Given the description of an element on the screen output the (x, y) to click on. 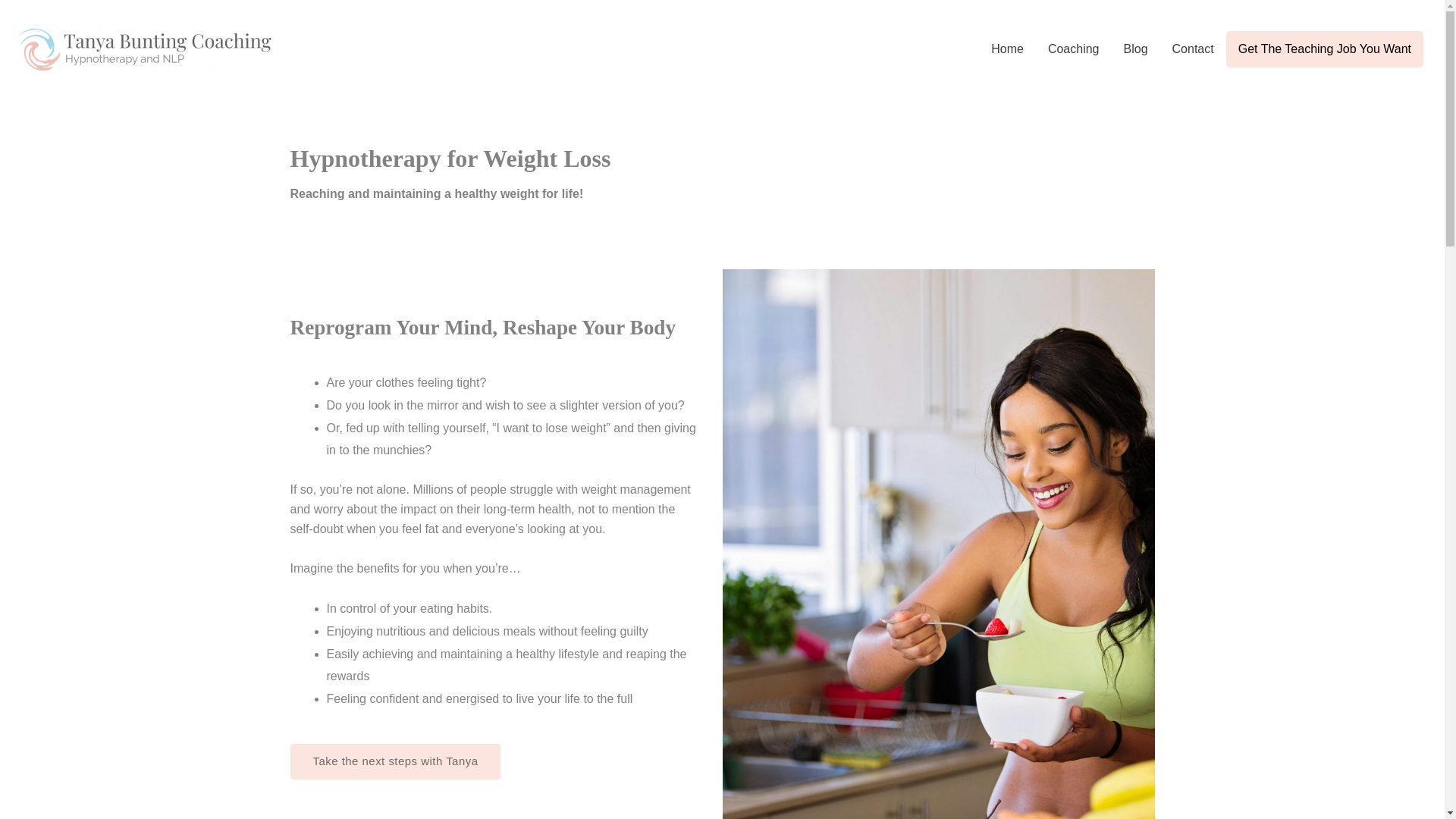
Coaching (1073, 49)
Home (1006, 49)
Contact (1192, 49)
Blog (1136, 49)
Get The Teaching Job You Want (1324, 49)
Take the next steps with Tanya (394, 761)
